Given the description of an element on the screen output the (x, y) to click on. 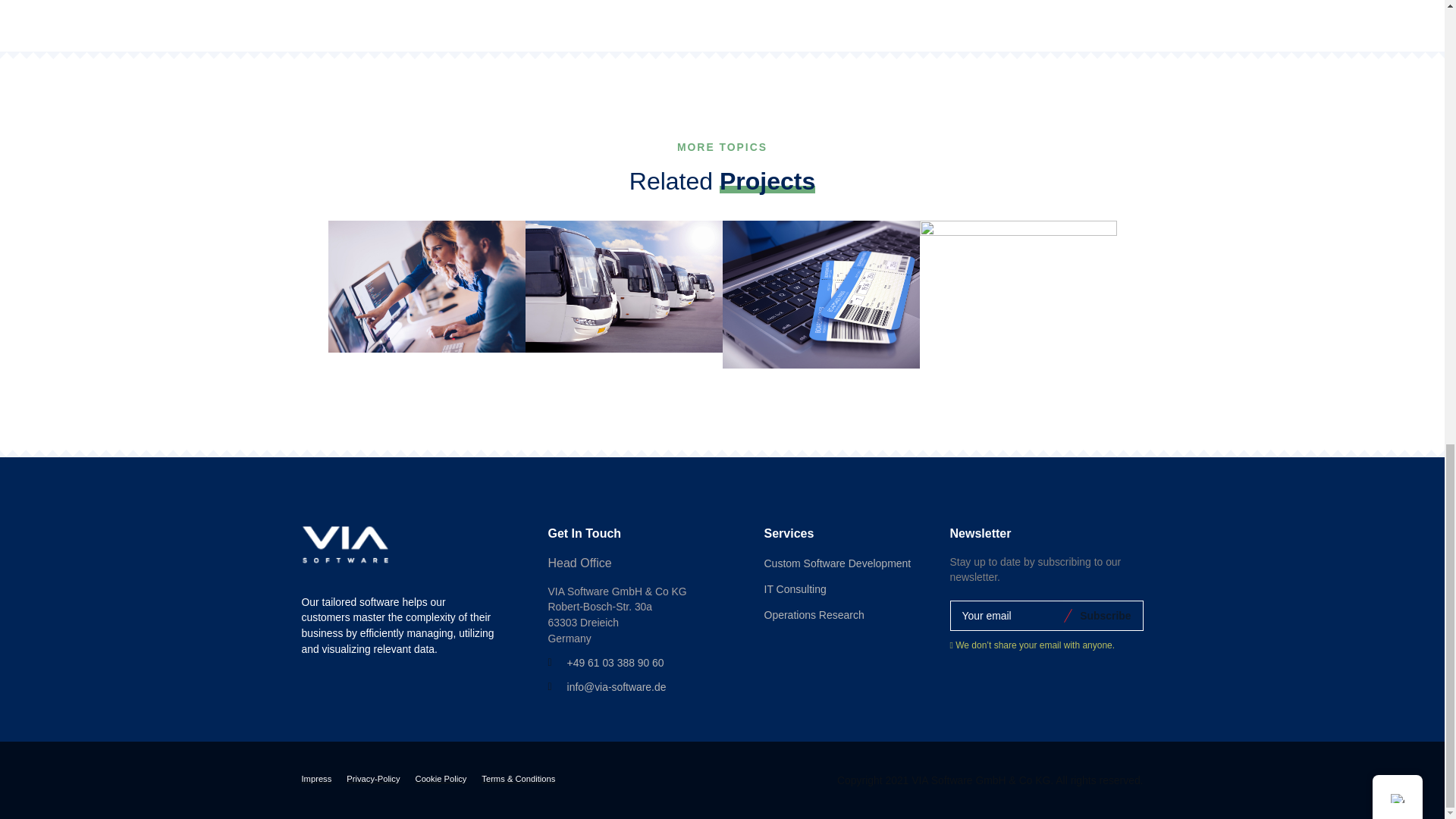
Impress (316, 779)
Custom Software Development (837, 564)
IT Consulting (795, 589)
Operations Research (814, 615)
Cookie Policy (440, 779)
Privacy-Policy (372, 779)
Subscribe (1102, 615)
